Given the description of an element on the screen output the (x, y) to click on. 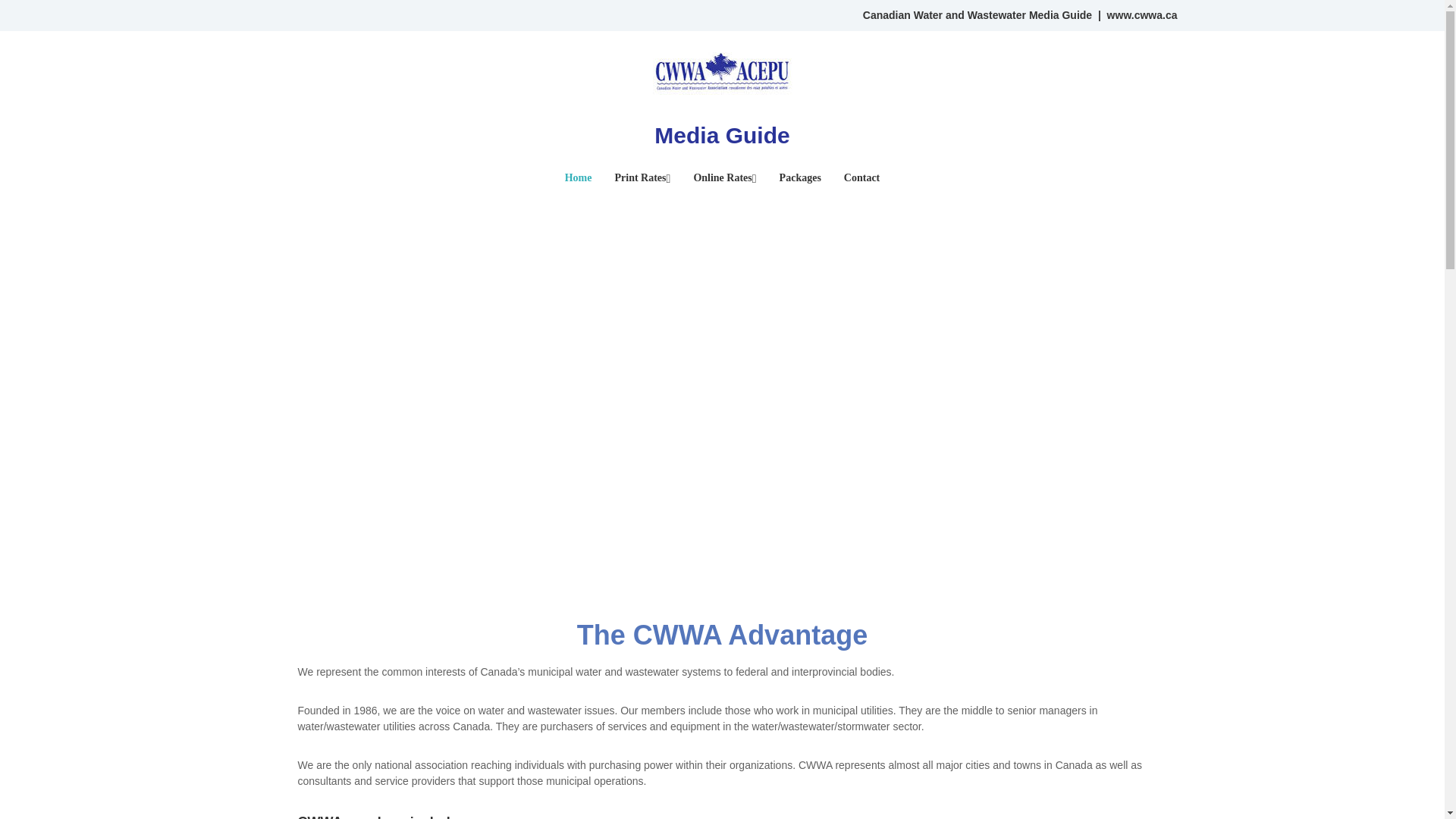
cwwa.ca (1155, 15)
Contact (861, 178)
Packages (799, 178)
Home (578, 178)
Online Rates (722, 178)
Print Rates (639, 178)
